Given the description of an element on the screen output the (x, y) to click on. 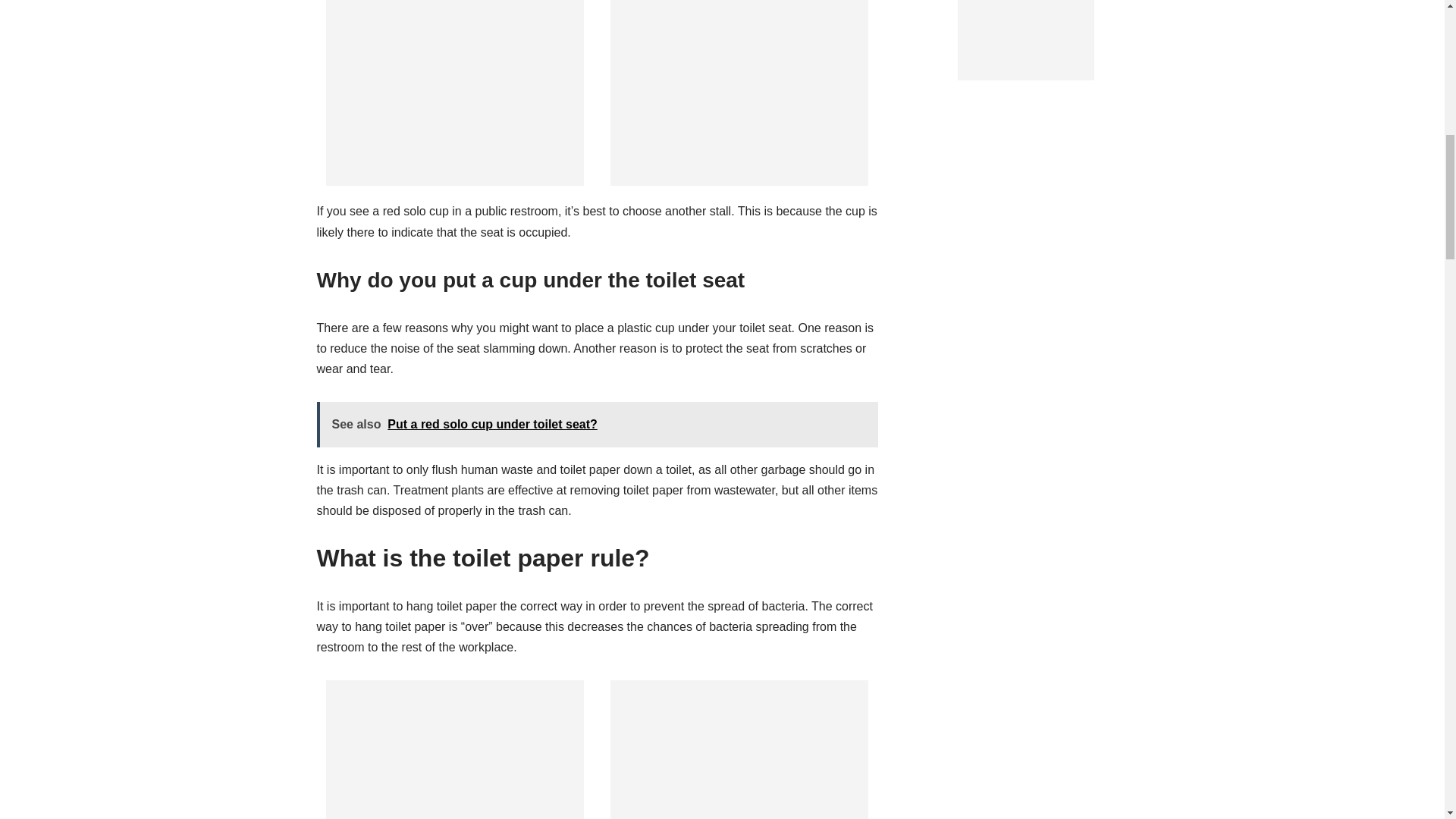
See also  Put a red solo cup under toilet seat? (597, 424)
